Given the description of an element on the screen output the (x, y) to click on. 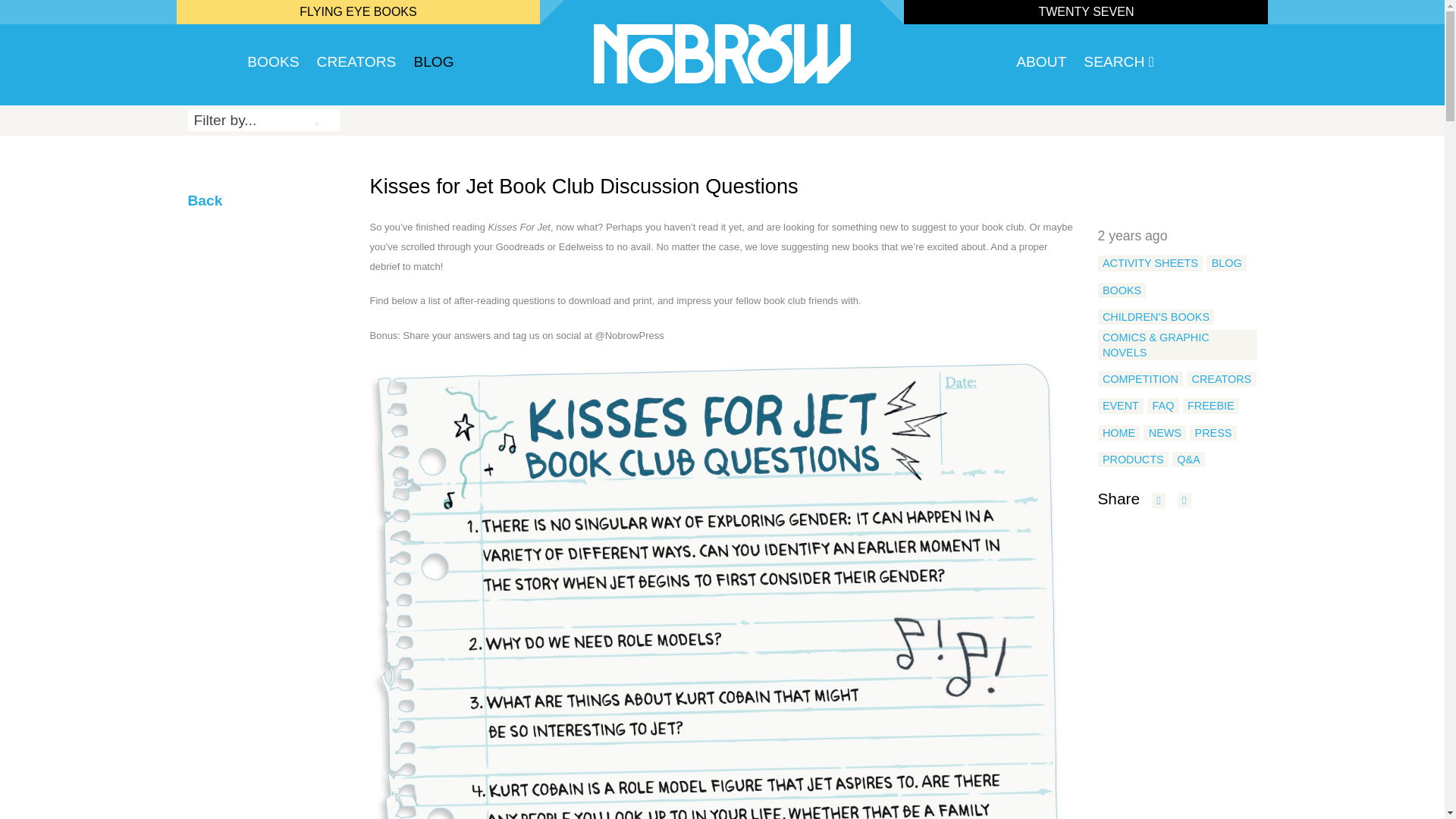
FAQ (1163, 405)
FLYING EYE BOOKS (357, 11)
CREATORS (1220, 378)
EVENT (1120, 405)
COMPETITION (1140, 378)
Kisses for Jet Book Club Discussion Questions (583, 186)
CHILDREN'S BOOKS (1155, 316)
FREEBIE (1210, 405)
CREATORS (356, 65)
TWENTY SEVEN (1086, 11)
ACTIVITY SHEETS (1150, 263)
BOOKS (1122, 290)
Filter by... (263, 120)
Back (204, 200)
HOME (1118, 432)
